Given the description of an element on the screen output the (x, y) to click on. 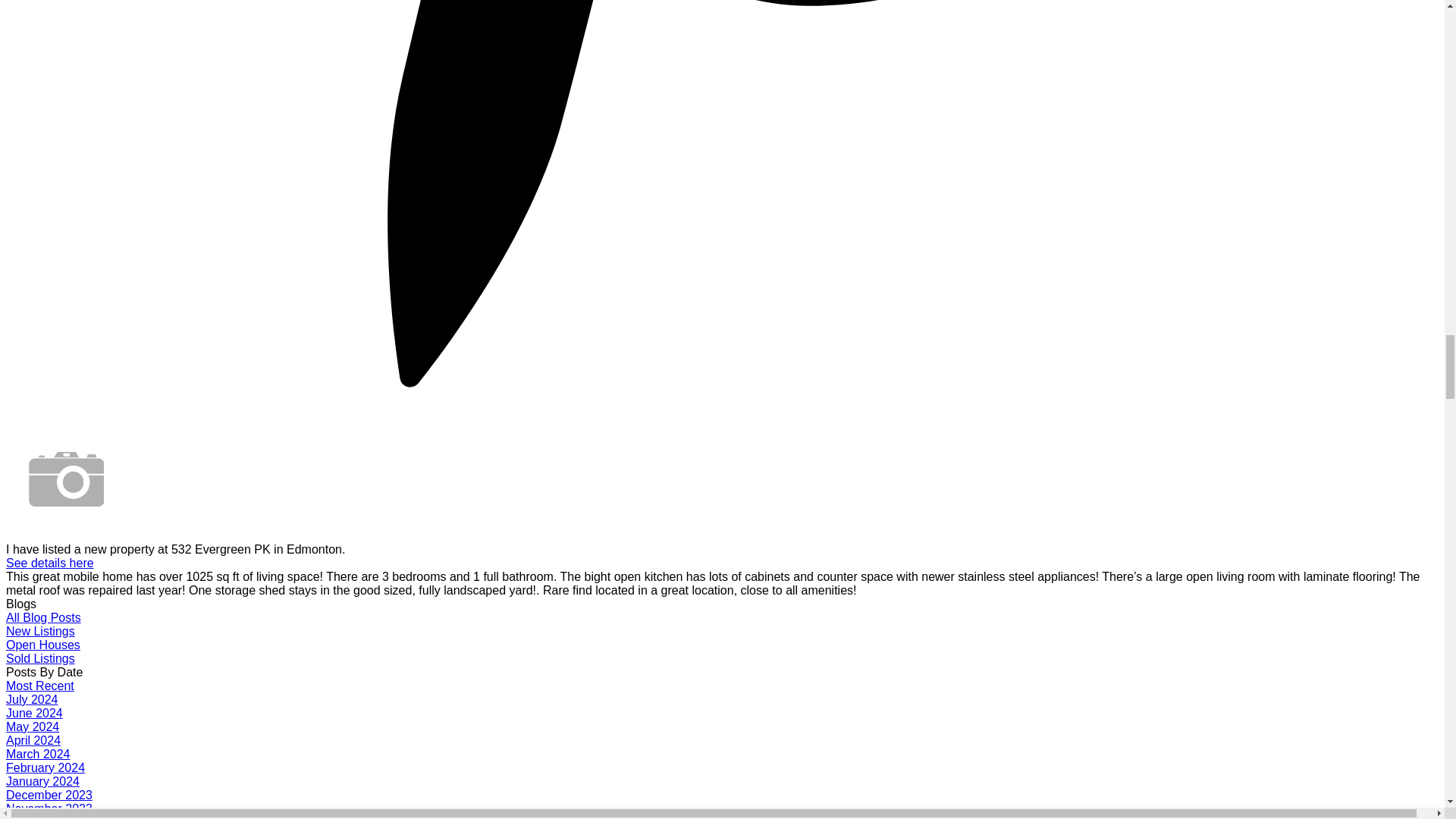
All Blog Posts (43, 617)
Sold Listings (40, 658)
February 2024 (44, 767)
October 2023 (42, 817)
See details here (49, 562)
April 2024 (33, 739)
March 2024 (37, 753)
December 2023 (49, 794)
Most Recent (39, 685)
New Listings (40, 631)
Open Houses (42, 644)
July 2024 (31, 698)
November 2023 (49, 808)
May 2024 (32, 726)
June 2024 (33, 712)
